Given the description of an element on the screen output the (x, y) to click on. 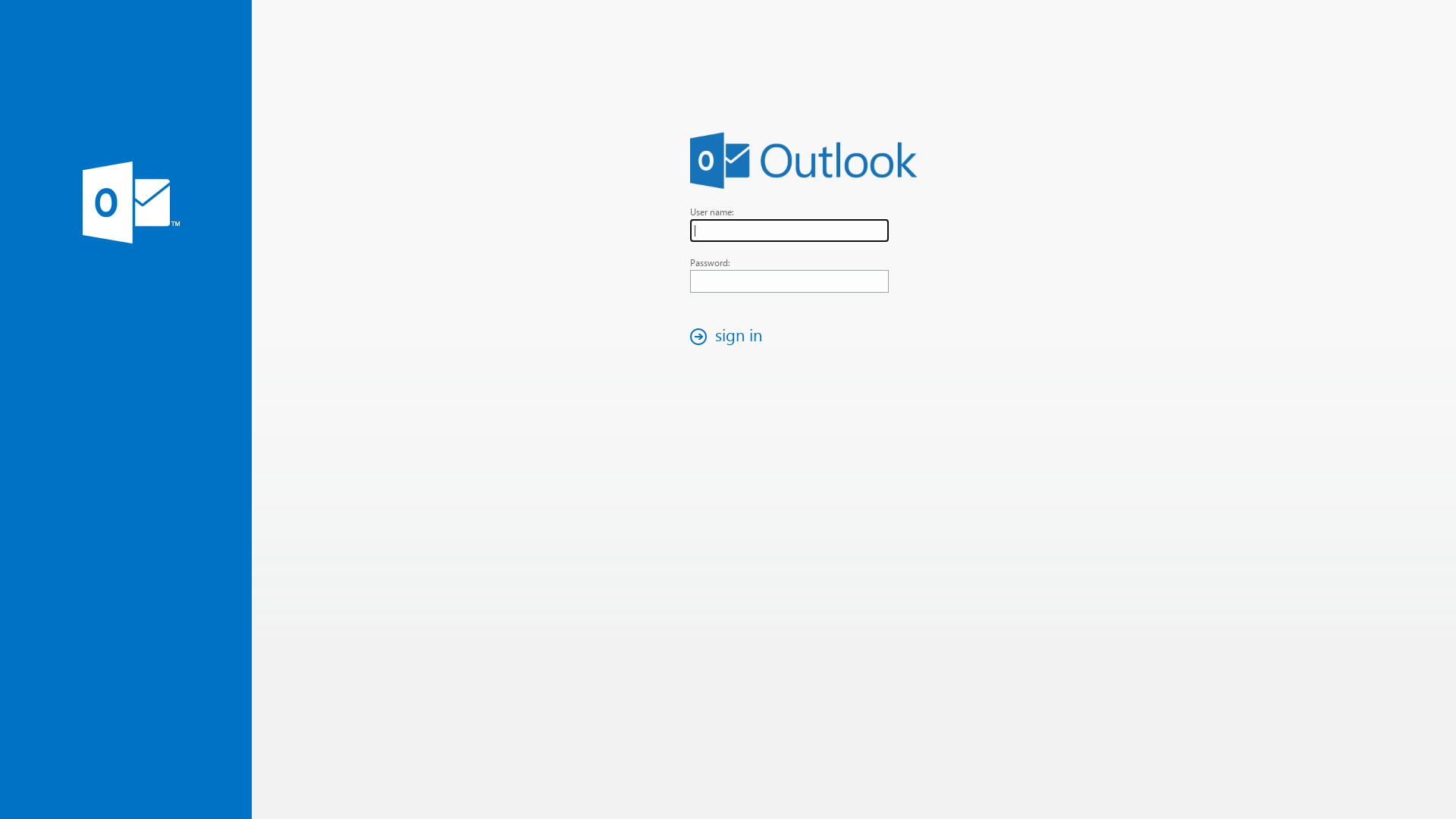
sign in Element type: text (730, 336)
